Given the description of an element on the screen output the (x, y) to click on. 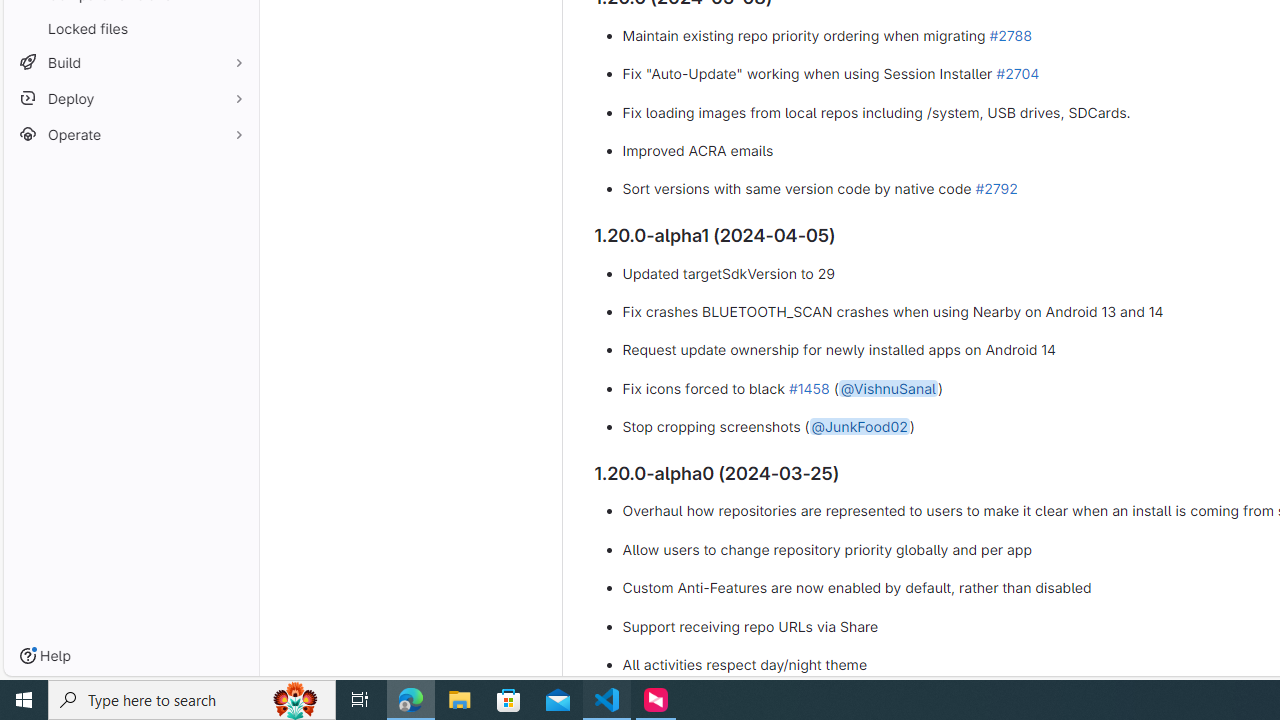
Warnings: 9 (67, 668)
Manage (24, 610)
No Ports Forwarded (120, 668)
Terminal (Ctrl+`) (627, 228)
Debug:  (155, 668)
Manage (24, 633)
Ports (693, 228)
Output (Ctrl+Shift+U) (447, 228)
remote (17, 668)
Problems (Ctrl+Shift+M) - Total 9 Problems (364, 228)
Debug Console (Ctrl+Shift+Y) (535, 228)
Outline Section (175, 624)
Timeline Section (175, 646)
Accounts (24, 585)
